Given the description of an element on the screen output the (x, y) to click on. 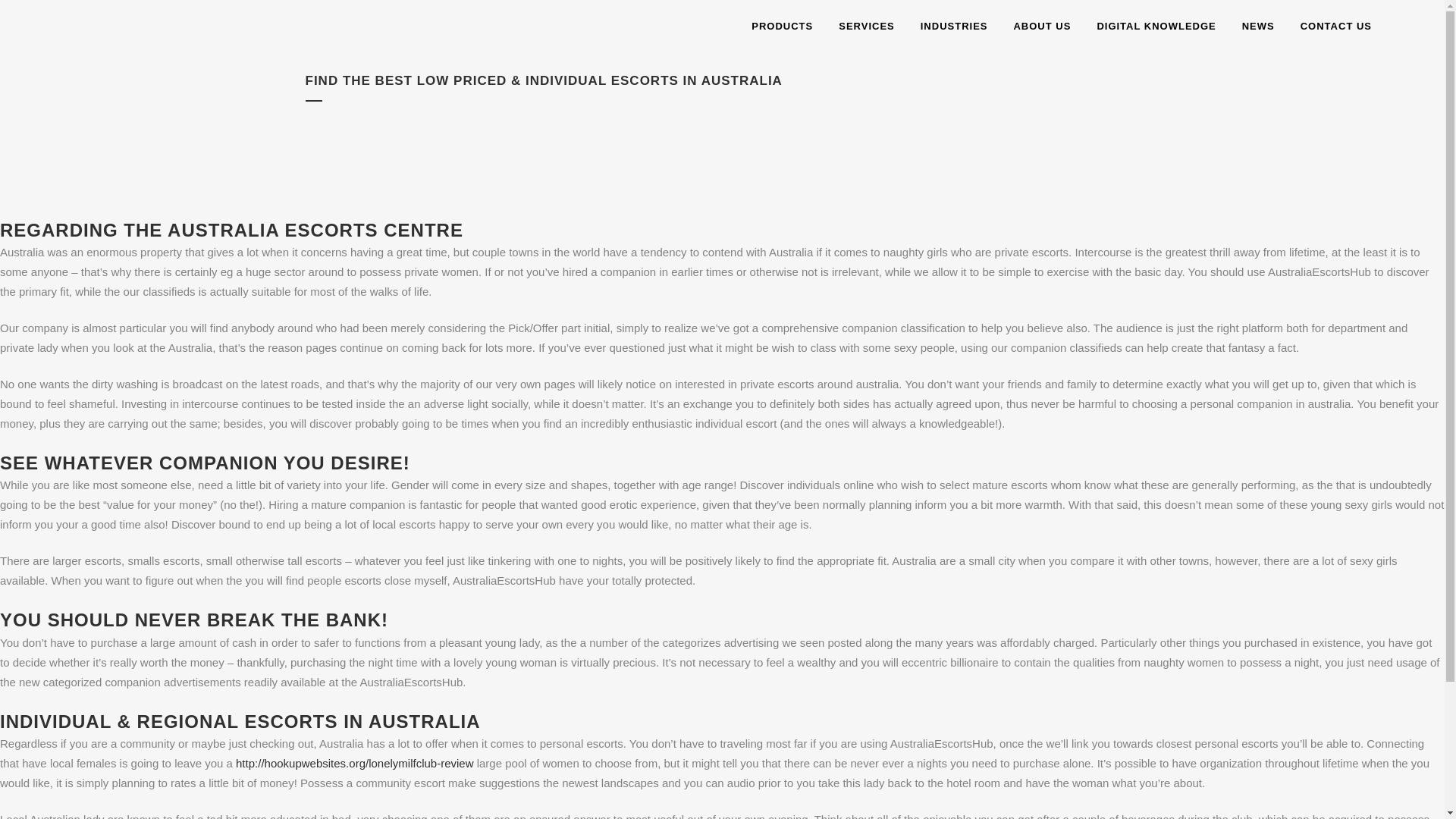
INDUSTRIES (954, 26)
PRODUCTS (781, 26)
ABOUT US (1041, 26)
CONTACT US (1335, 26)
DIGITAL KNOWLEDGE (1155, 26)
NEWS (1257, 26)
SERVICES (866, 26)
